Given the description of an element on the screen output the (x, y) to click on. 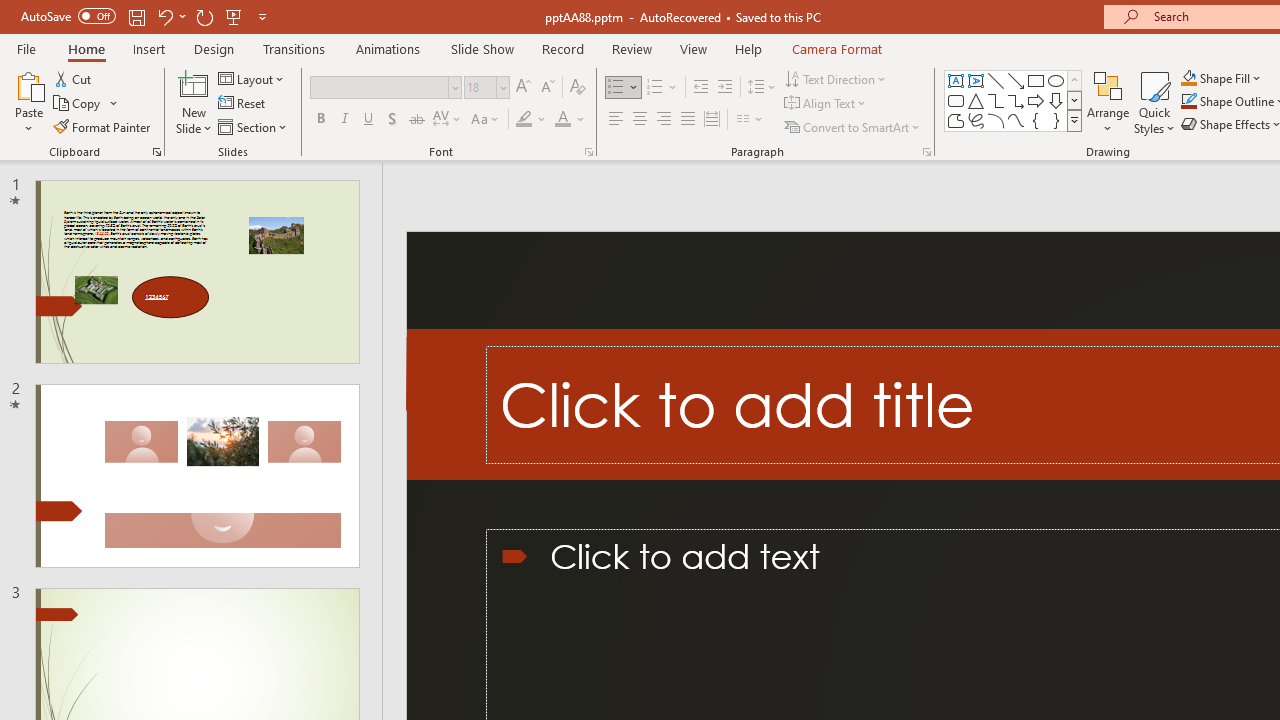
Isosceles Triangle (975, 100)
Strikethrough (416, 119)
Layout (252, 78)
Left Brace (1035, 120)
Line Arrow (1016, 80)
Format Painter (103, 126)
Office Clipboard... (156, 151)
Center (639, 119)
Rectangle: Rounded Corners (955, 100)
New Slide (193, 84)
Text Box (955, 80)
Shape Outline Teal, Accent 1 (1188, 101)
Clear Formatting (577, 87)
